Given the description of an element on the screen output the (x, y) to click on. 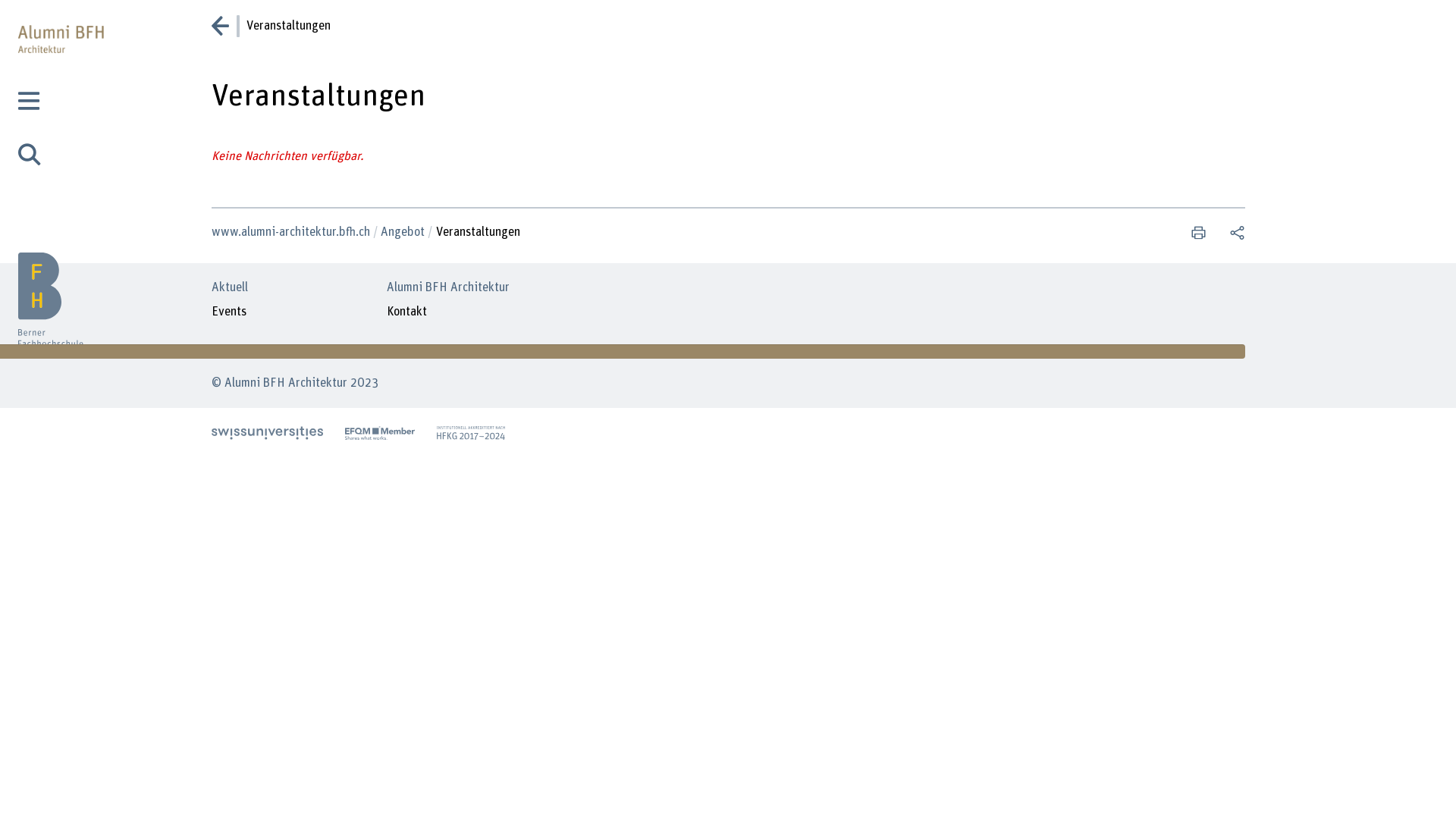
Alumni BFH Architektur Element type: hover (60, 275)
Angebot Element type: text (408, 231)
www.alumni-architektur.bfh.ch Element type: text (295, 231)
Kontakt Element type: text (406, 312)
Swissuniversities Element type: hover (266, 432)
HEdA Element type: hover (470, 432)
Veranstaltungen Element type: text (479, 231)
Events Element type: text (227, 312)
EFQM Member Element type: hover (379, 432)
